Given the description of an element on the screen output the (x, y) to click on. 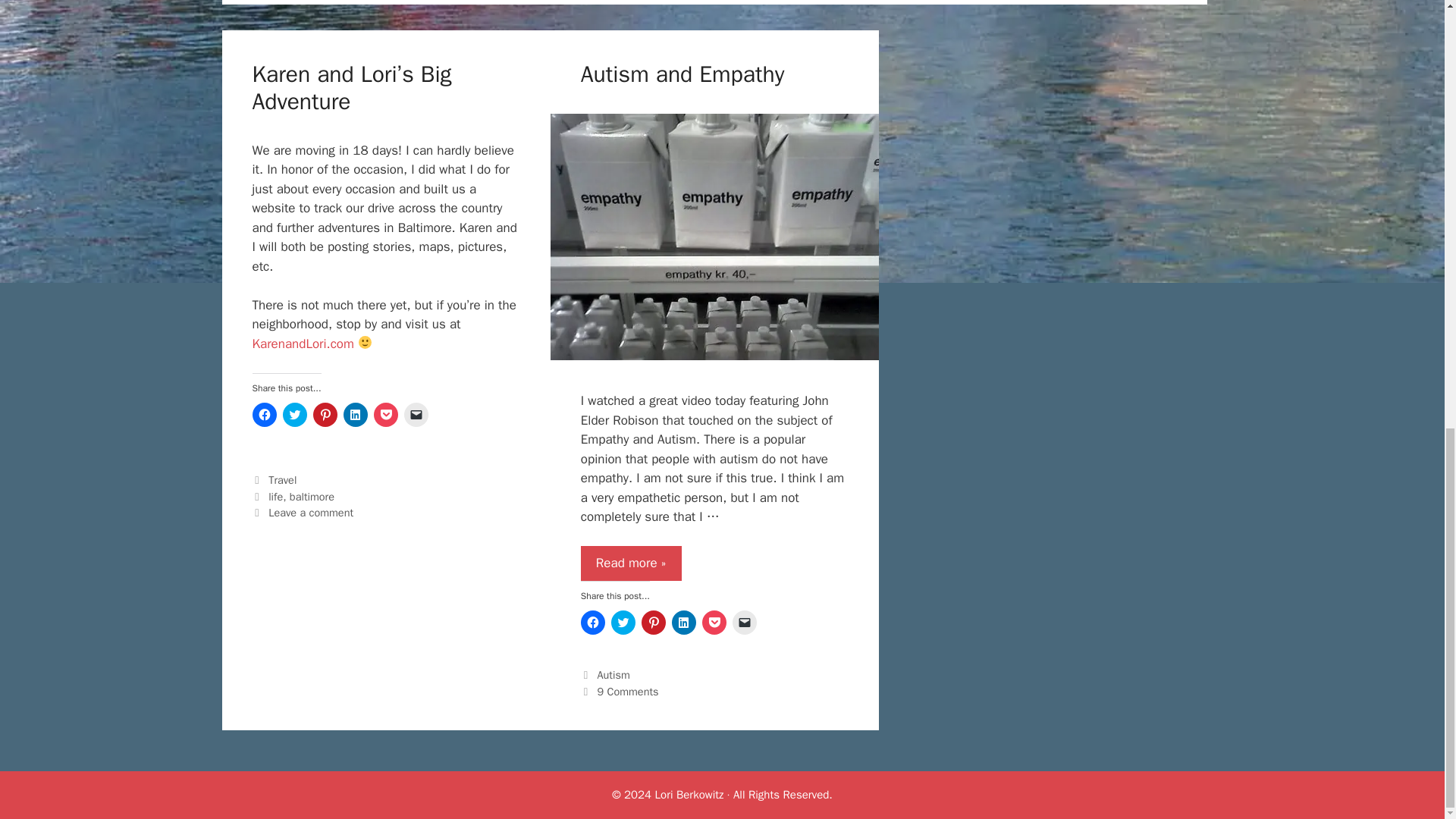
Click to share on Facebook (263, 414)
